Given the description of an element on the screen output the (x, y) to click on. 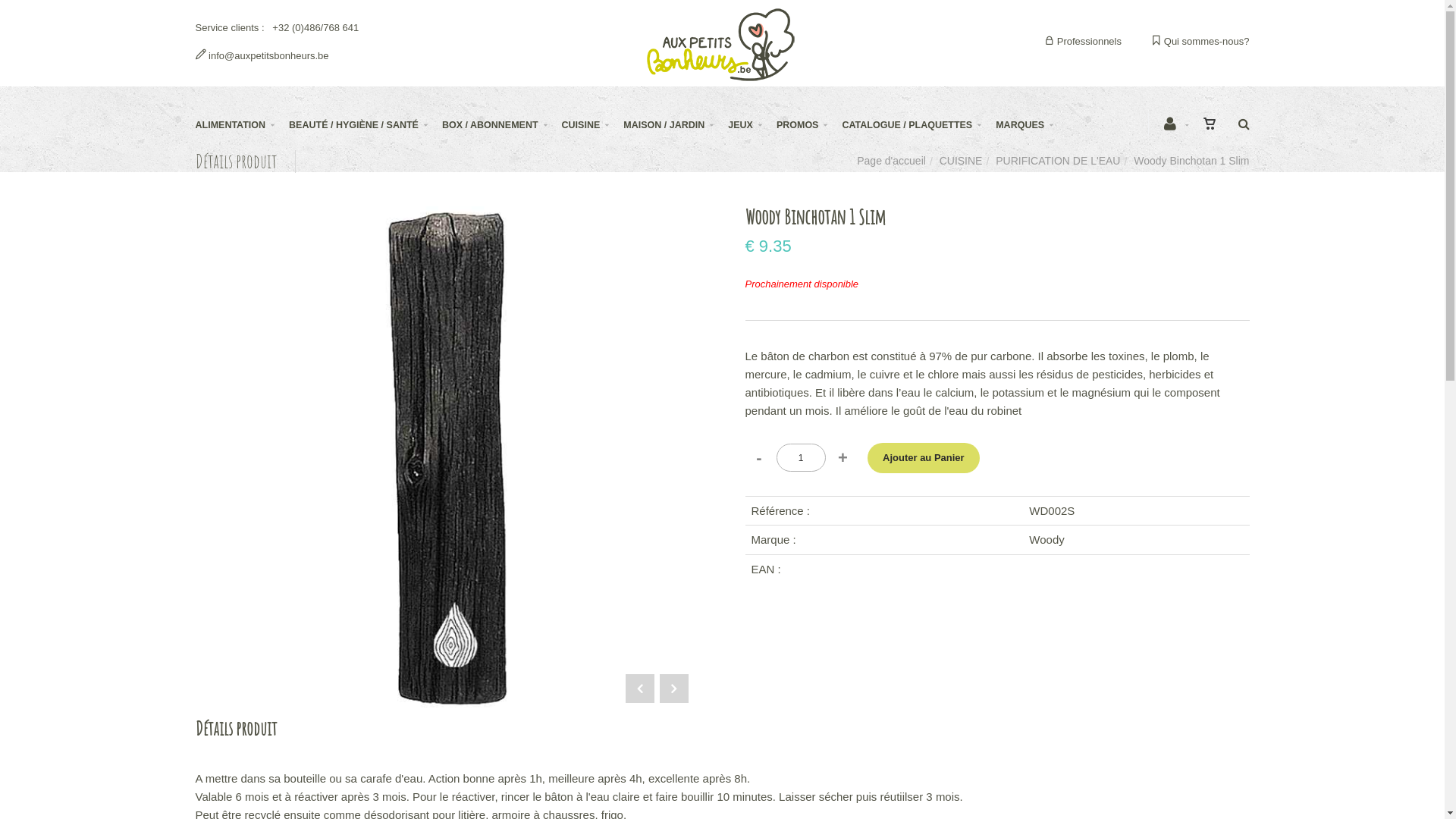
CUISINE Element type: text (960, 160)
JEUX Element type: text (752, 124)
CATALOGUE / PLAQUETTES Element type: text (918, 124)
Qui sommes-nous? Element type: text (1199, 41)
Page d'accueil Element type: text (890, 160)
Woody Binchotan 1 Slim Element type: hover (447, 216)
CUISINE Element type: text (592, 124)
Professionnels Element type: text (1082, 41)
PROMOS Element type: text (809, 124)
ALIMENTATION Element type: text (242, 124)
info@auxpetitsbonheurs.be Element type: text (262, 54)
Ajouter au Panier Element type: text (923, 457)
MARQUES Element type: text (1031, 124)
Woody Element type: text (1046, 539)
+ Element type: text (842, 457)
MAISON / JARDIN Element type: text (675, 124)
- Element type: text (758, 457)
PURIFICATION DE L'EAU Element type: text (1057, 160)
BOX / ABONNEMENT Element type: text (501, 124)
Service clients :   +32 (0)486/768 641 Element type: text (277, 27)
